Given the description of an element on the screen output the (x, y) to click on. 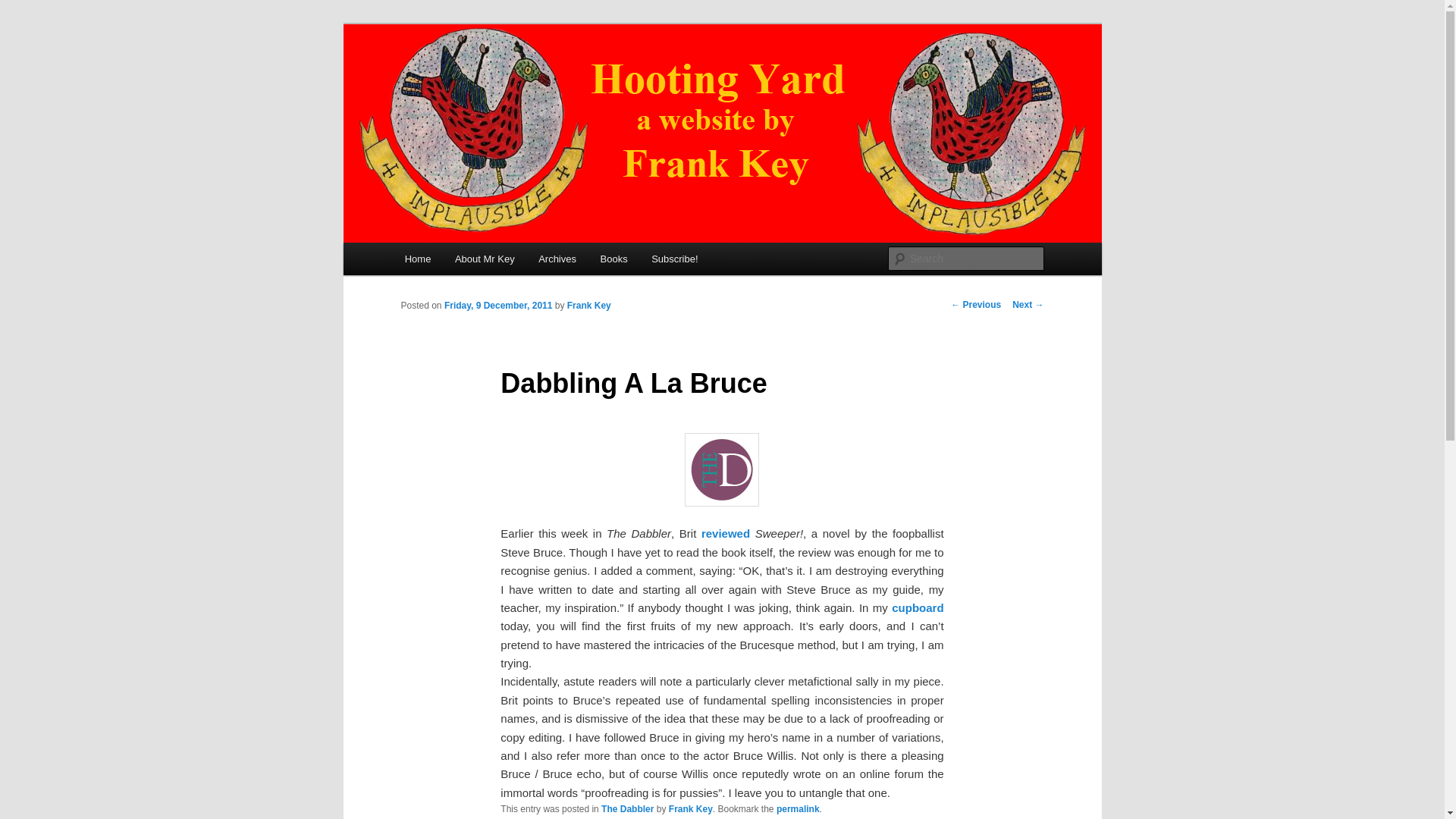
Friday, 9 December, 2011 (498, 305)
View all posts by Frank Key (589, 305)
permalink (797, 808)
reviewed (725, 533)
Frank Key (690, 808)
Search (24, 8)
Subscribe! (674, 258)
Frank Key (589, 305)
7:48 am (498, 305)
Home (417, 258)
Permalink to Dabbling A La Bruce (797, 808)
The Dabbler (627, 808)
Books (614, 258)
About Mr Key (483, 258)
